Given the description of an element on the screen output the (x, y) to click on. 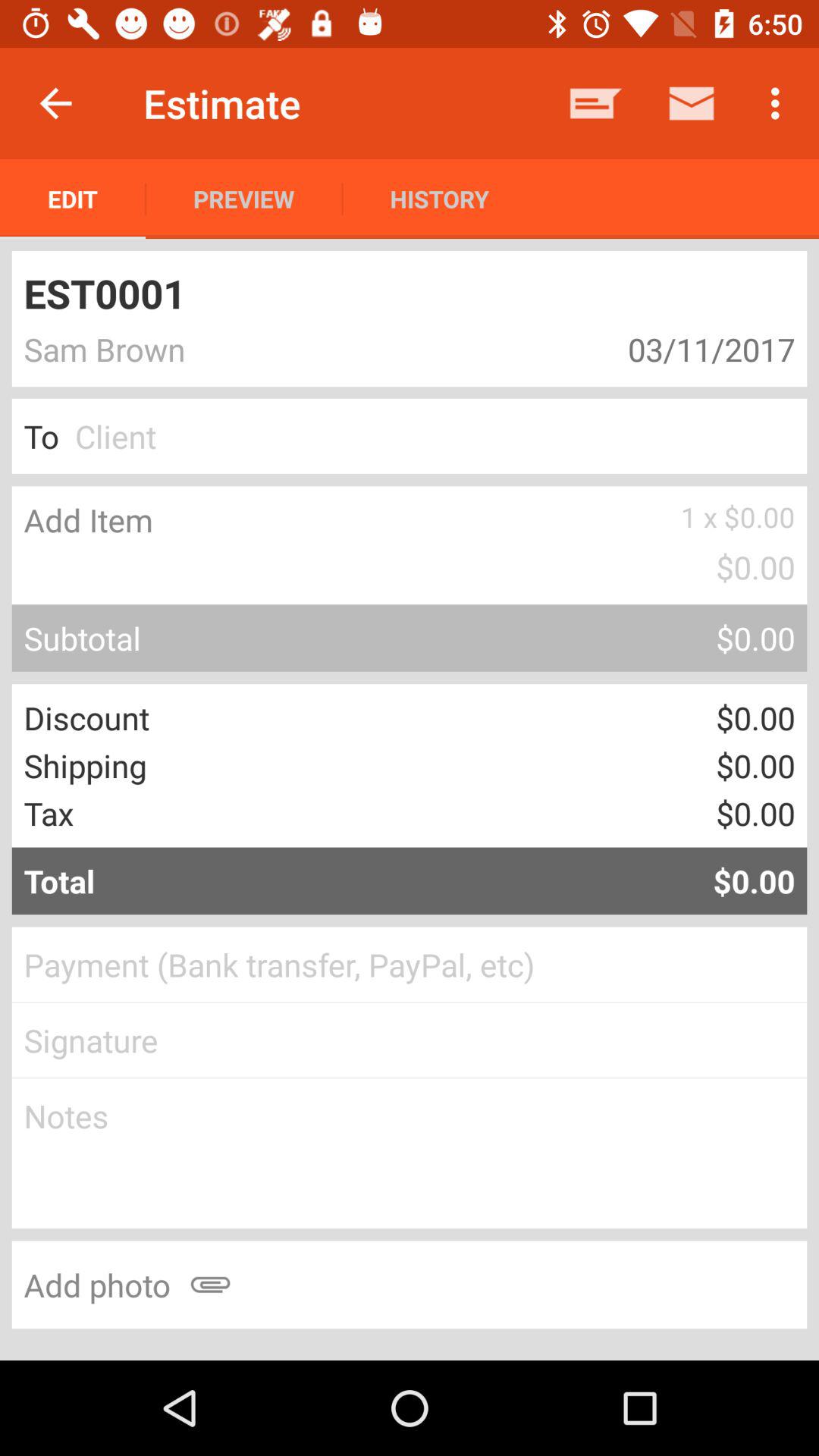
add shipment notes (409, 1153)
